Given the description of an element on the screen output the (x, y) to click on. 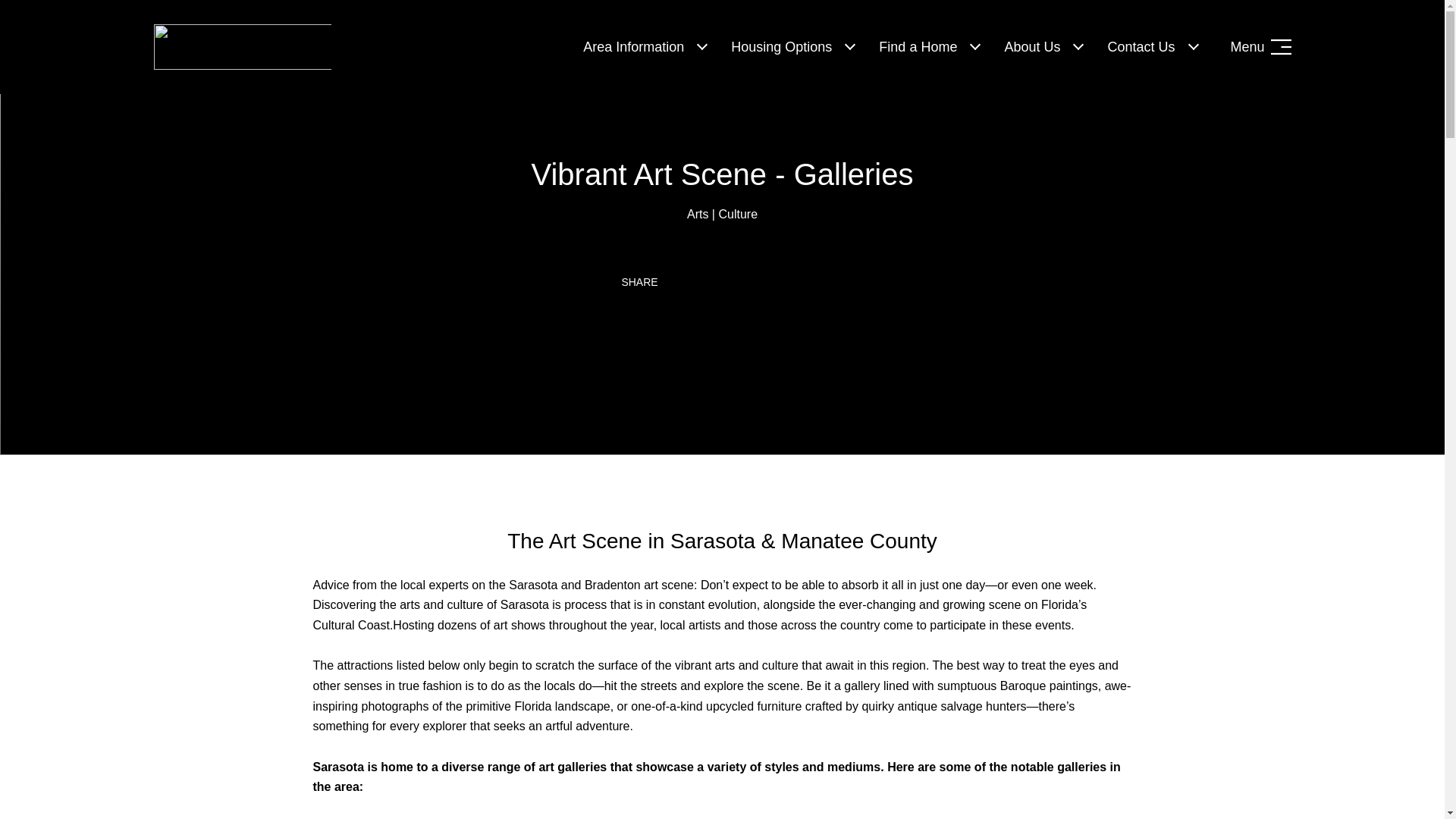
Contact Us (1140, 46)
Find a Home (916, 46)
Menu (1260, 46)
Area Information (633, 46)
Housing Options (781, 46)
About Us (1031, 46)
